Given the description of an element on the screen output the (x, y) to click on. 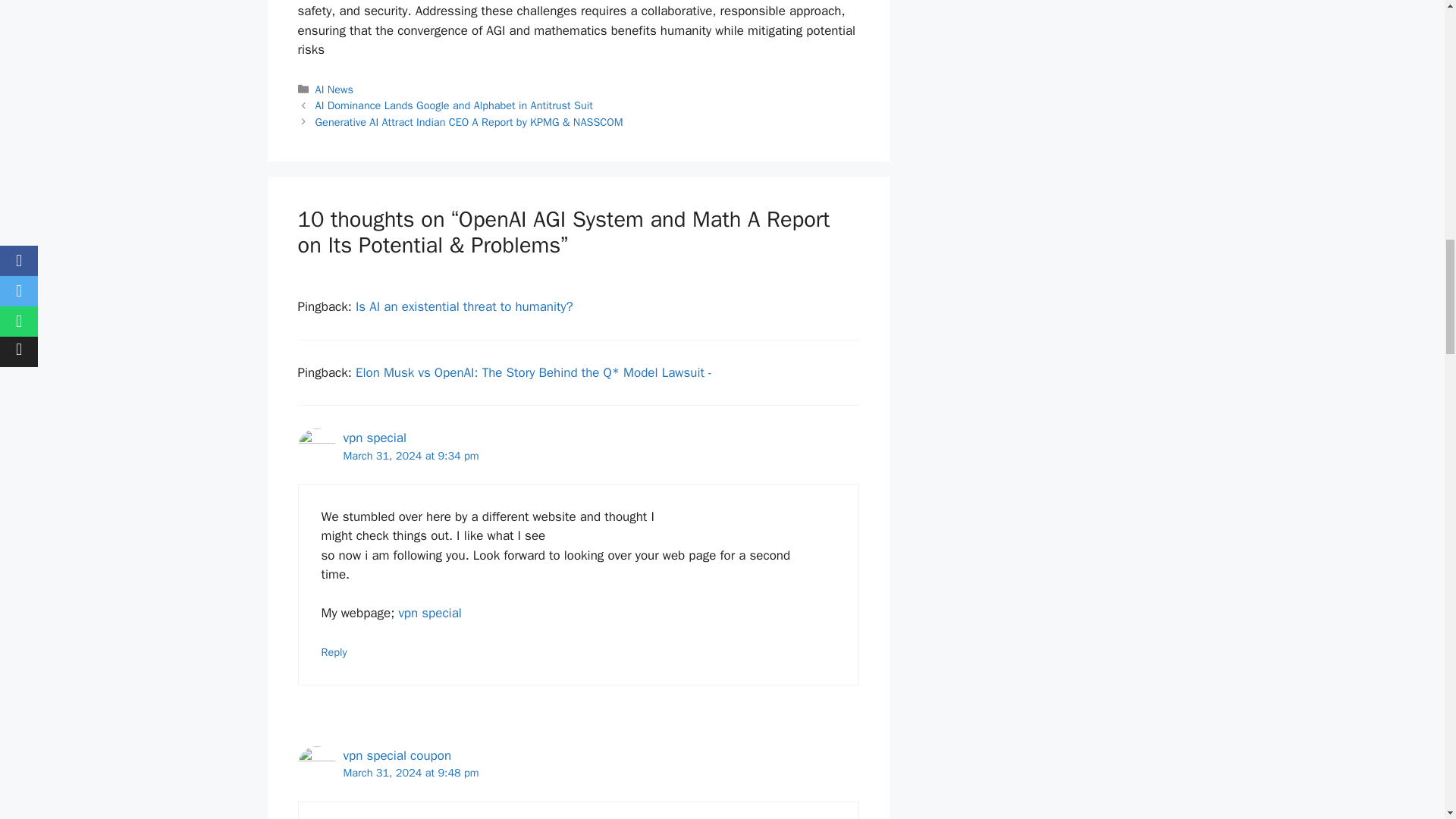
March 31, 2024 at 9:48 pm (410, 772)
AI News (334, 89)
Reply (334, 652)
vpn special (429, 612)
Is AI an existential threat to humanity? (464, 306)
AI Dominance Lands Google and Alphabet in Antitrust Suit (453, 105)
vpn special (374, 437)
vpn special coupon (396, 755)
March 31, 2024 at 9:34 pm (410, 455)
